Given the description of an element on the screen output the (x, y) to click on. 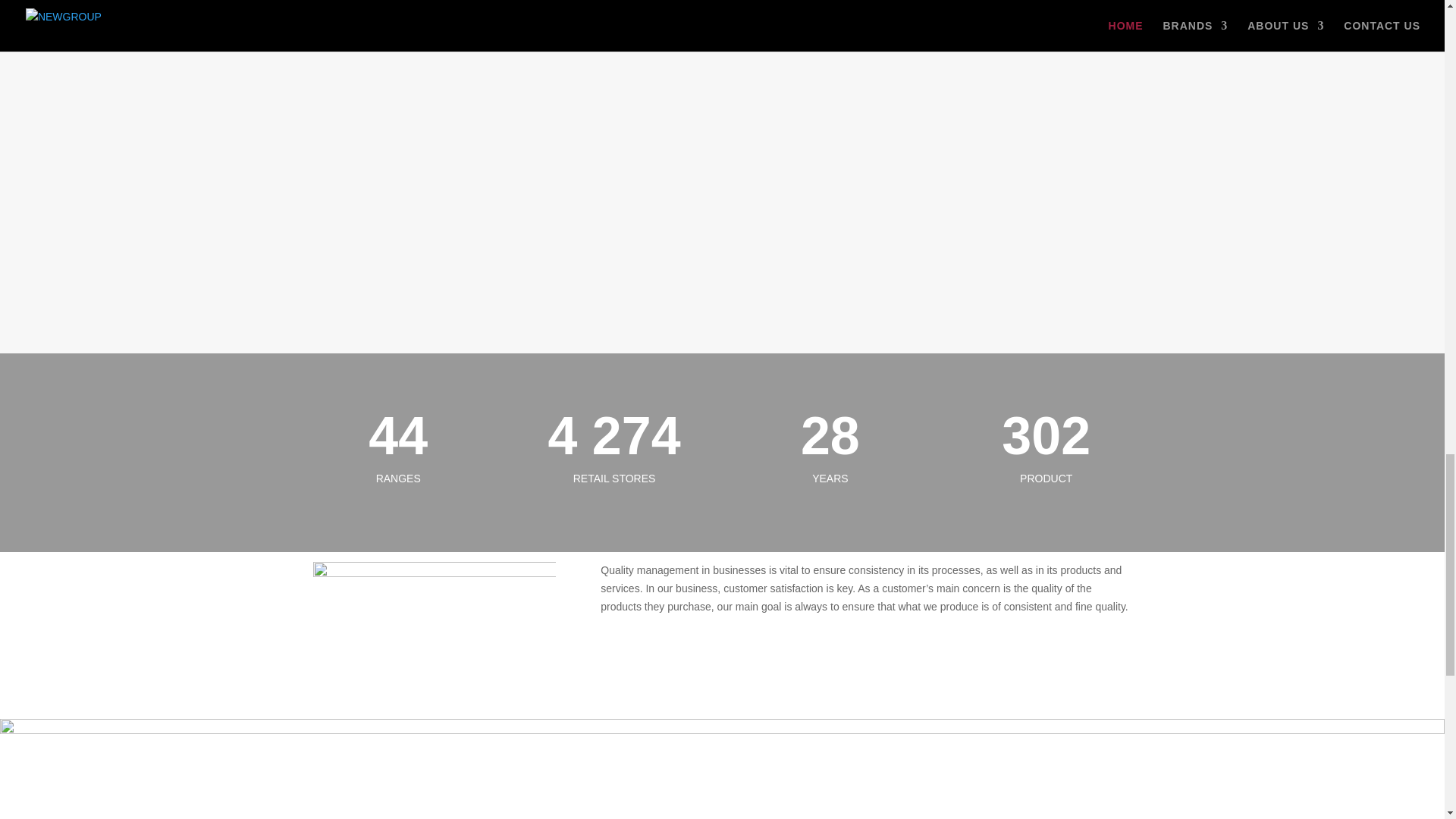
the-business-of-quality (433, 635)
herbex2019 (721, 179)
